Given the description of an element on the screen output the (x, y) to click on. 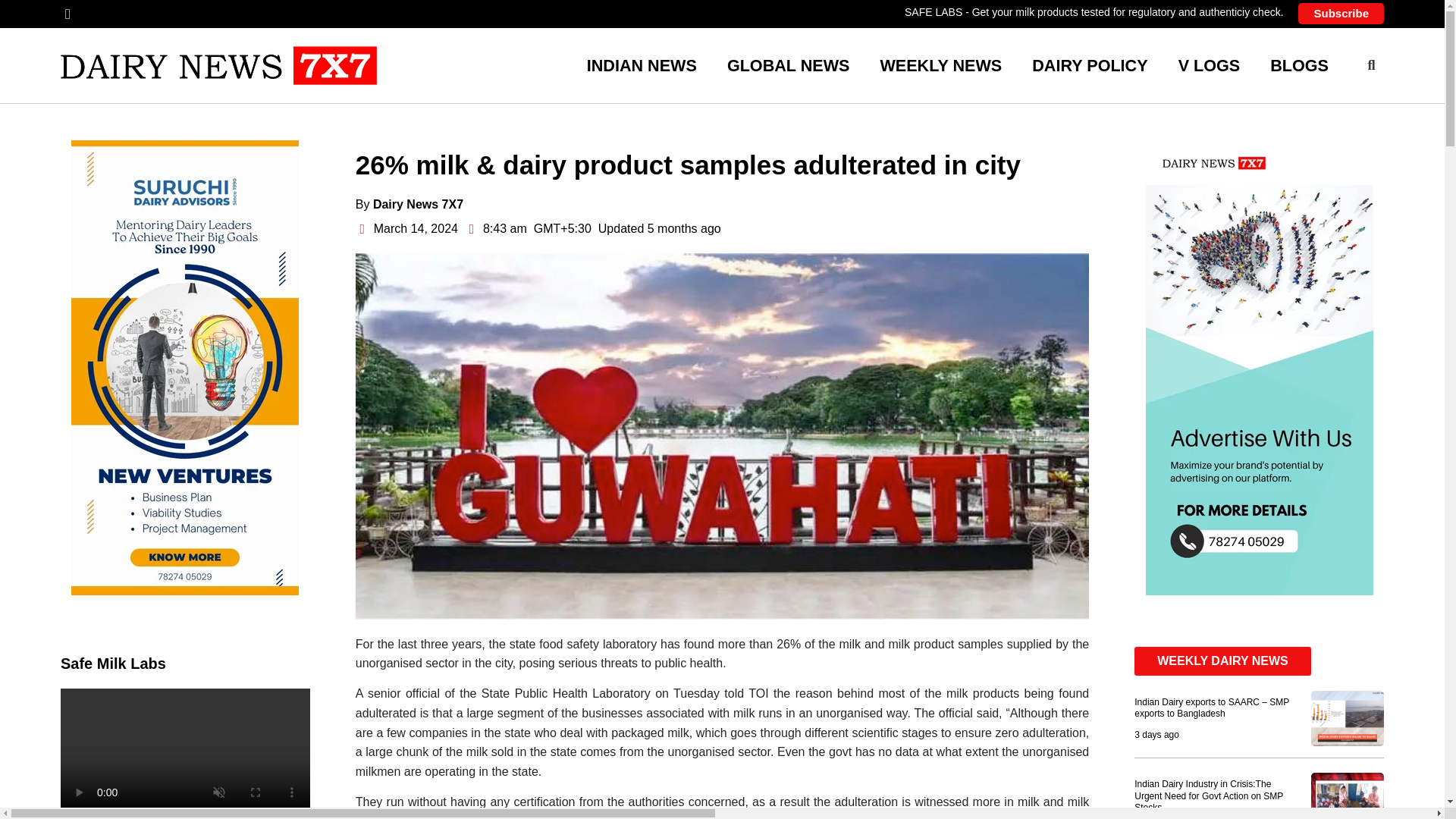
DAIRY POLICY (1088, 65)
By Dairy News 7X7 (409, 204)
V LOGS (1209, 65)
GLOBAL NEWS (787, 65)
Subscribe (1341, 13)
WEEKLY DAIRY NEWS (1222, 661)
INDIAN NEWS (641, 65)
BLOGS (1299, 65)
